Given the description of an element on the screen output the (x, y) to click on. 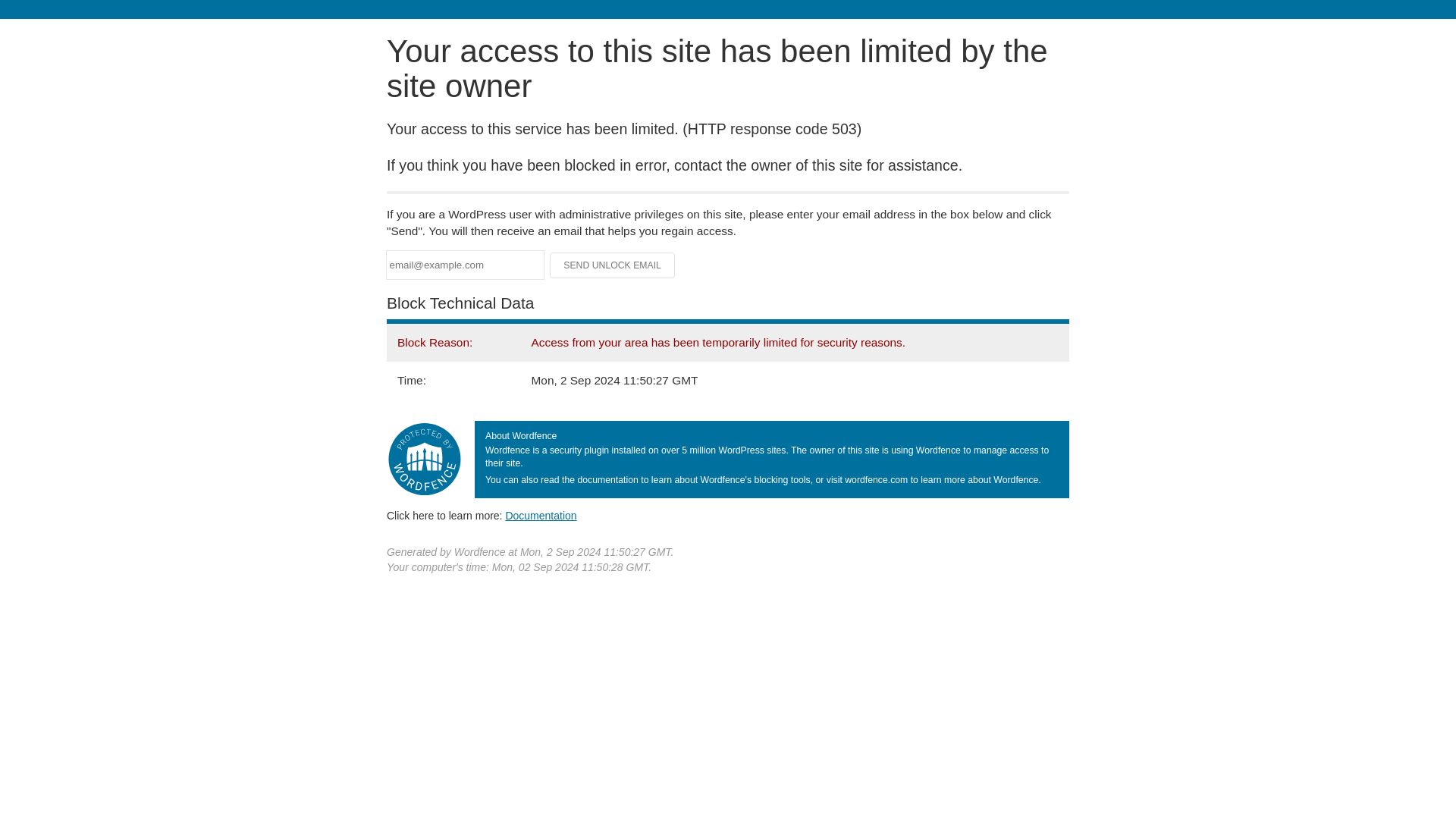
Send Unlock Email (612, 265)
Send Unlock Email (612, 265)
Documentation (540, 515)
